Given the description of an element on the screen output the (x, y) to click on. 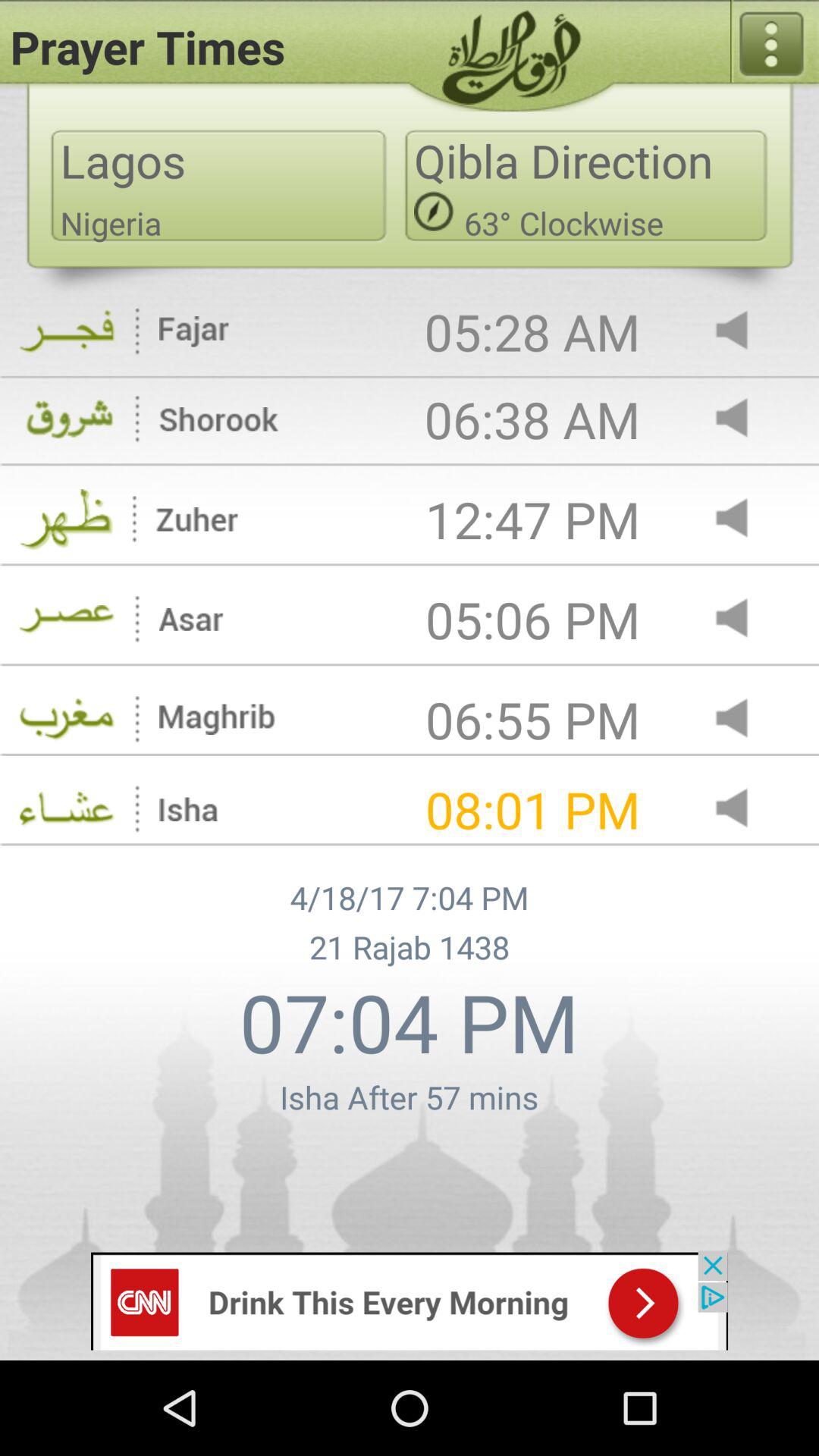
play isha prayer (744, 809)
